Given the description of an element on the screen output the (x, y) to click on. 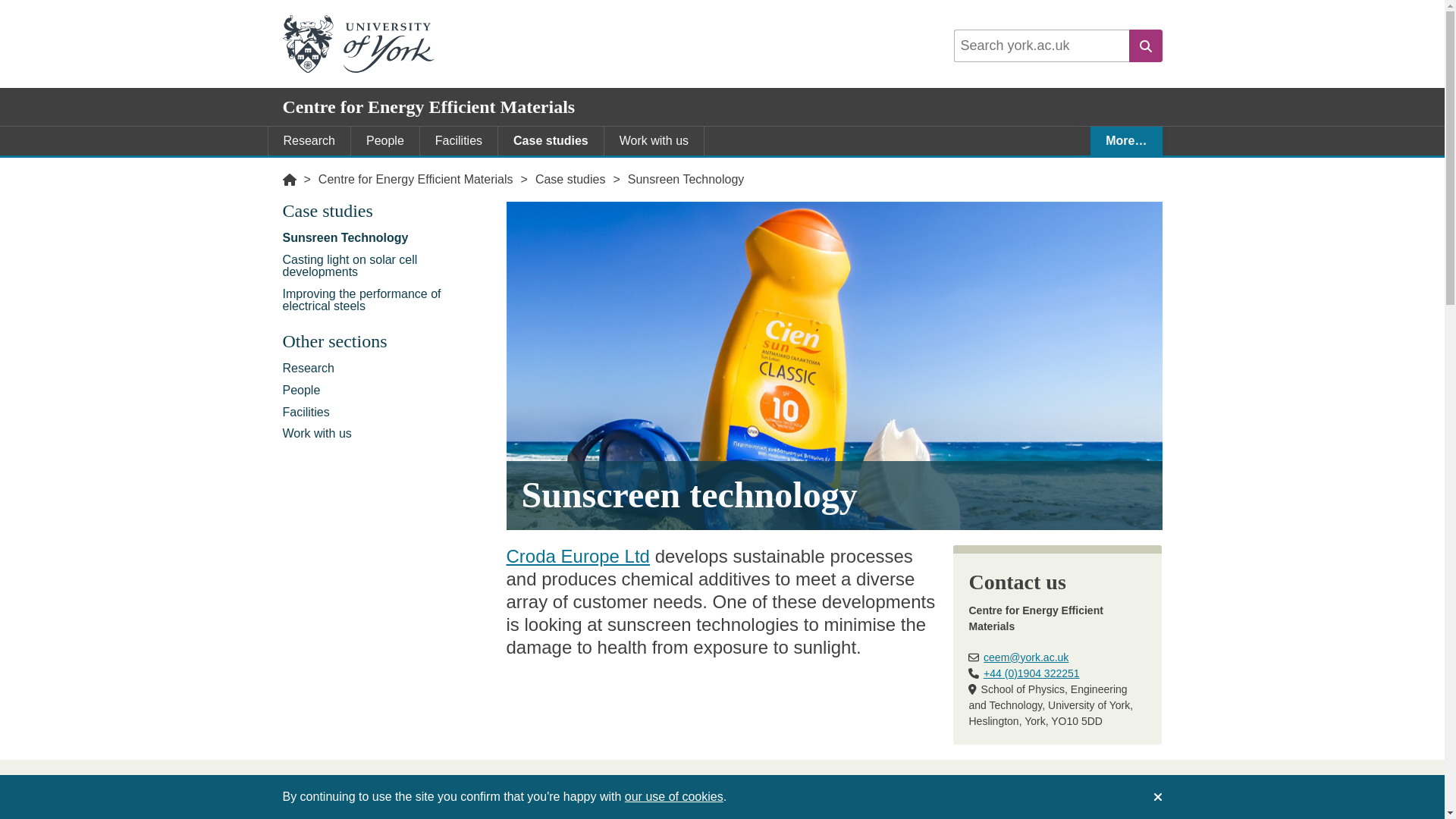
Facilities (386, 412)
Work with us (653, 140)
People (384, 140)
Research (386, 368)
Home (288, 178)
Home (288, 179)
Work with us (386, 434)
Casting light on solar cell developments (386, 265)
Case studies (570, 178)
Centre for Energy Efficient Materials (415, 178)
Sunsreen Technology (685, 178)
People (386, 390)
Facilities (458, 140)
Case studies (386, 214)
Improving the performance of electrical steels (386, 299)
